Given the description of an element on the screen output the (x, y) to click on. 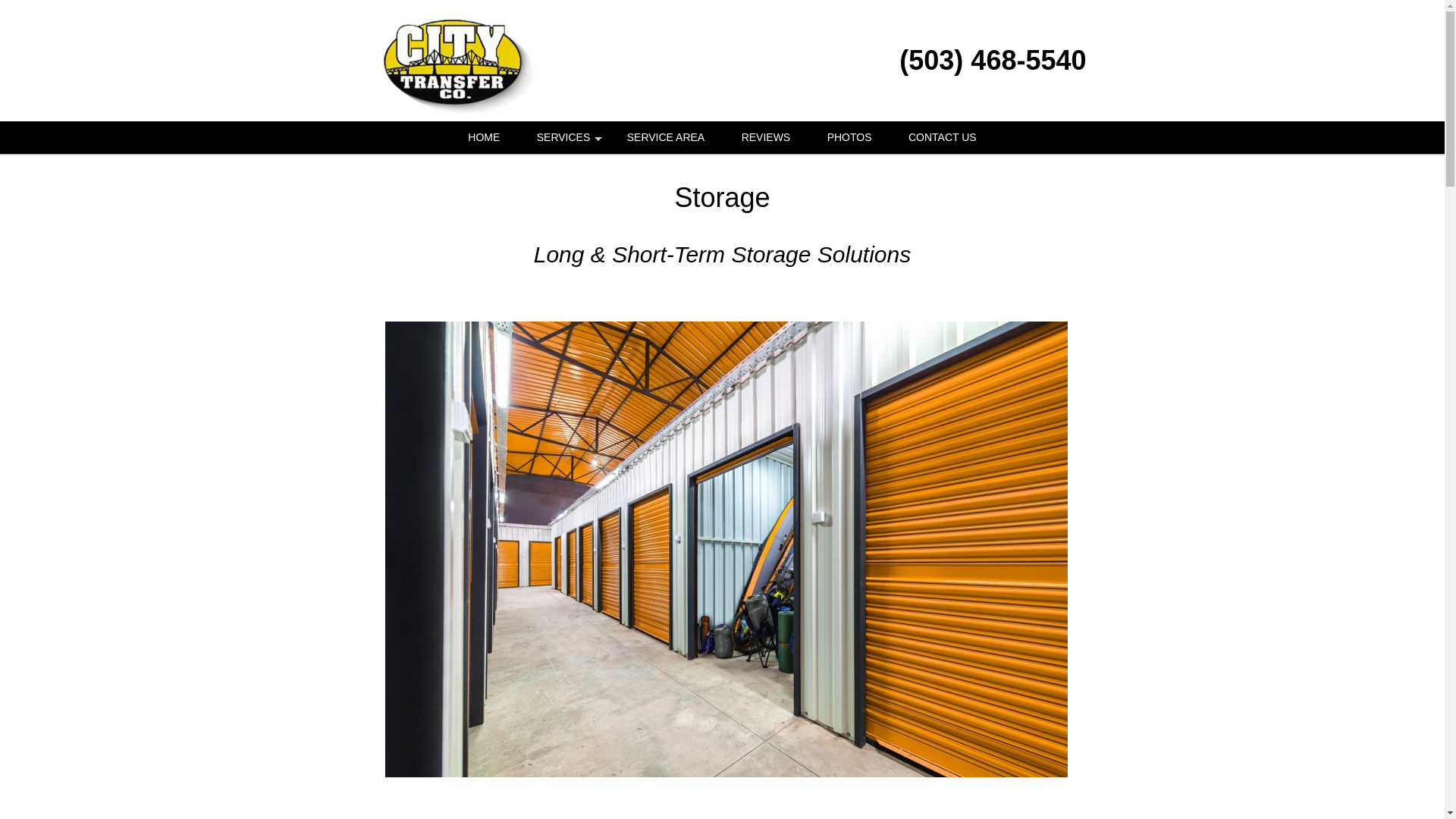
PHOTOS (849, 137)
CONTACT US (941, 137)
HOME (483, 137)
REVIEWS (766, 137)
SERVICE AREA (665, 137)
